Given the description of an element on the screen output the (x, y) to click on. 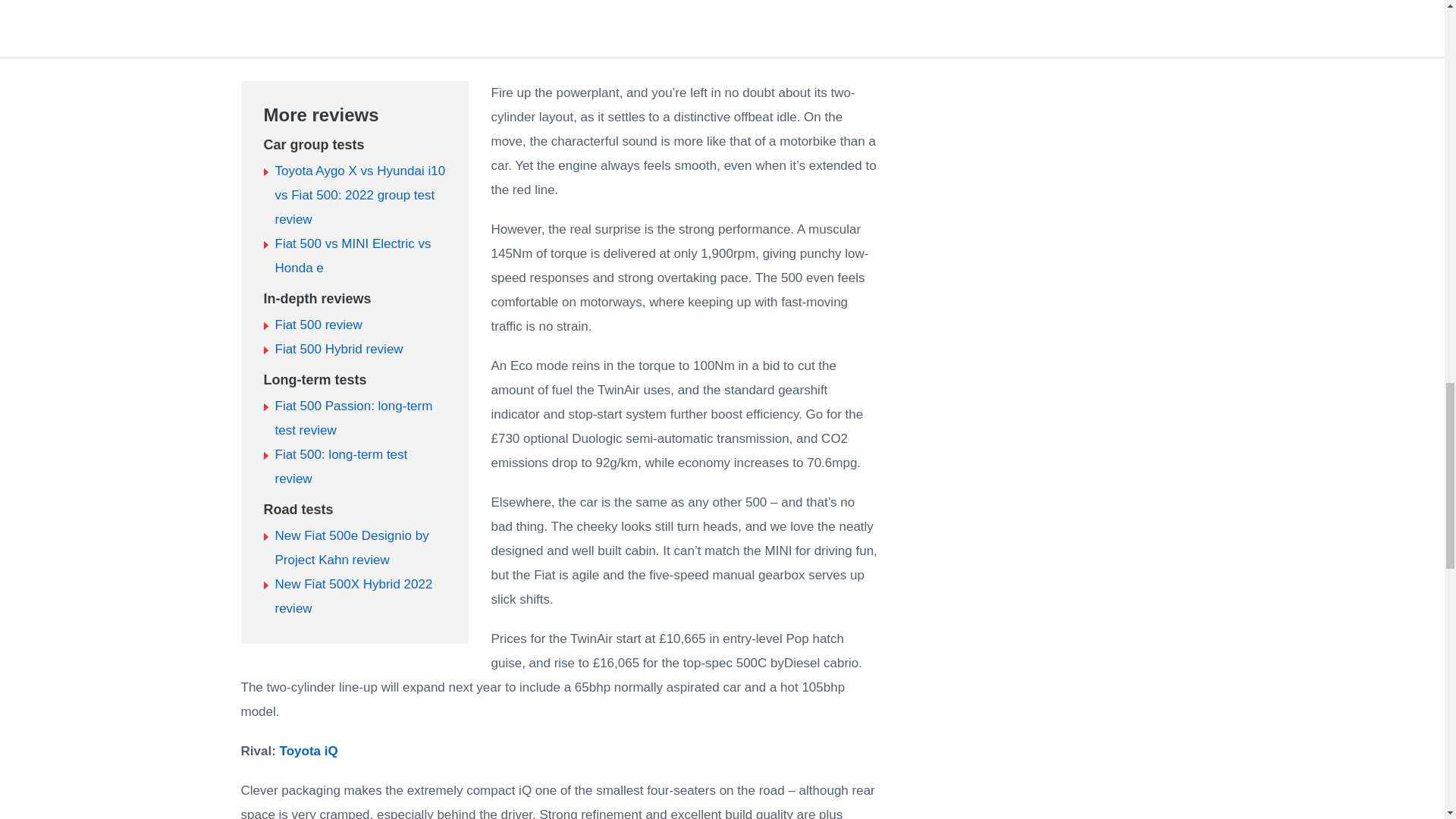
Fiat 500 vs MINI Electric vs Honda e (352, 255)
New Fiat 500X Hybrid 2022 review (353, 596)
New Fiat 500e Designio by Project Kahn review (351, 547)
Fiat 500 Passion: long-term test review (353, 417)
Fiat 500 review (318, 324)
Fiat 500: long-term test review (341, 466)
Toyota iQ (308, 750)
Fiat 500 Hybrid review (339, 349)
